Given the description of an element on the screen output the (x, y) to click on. 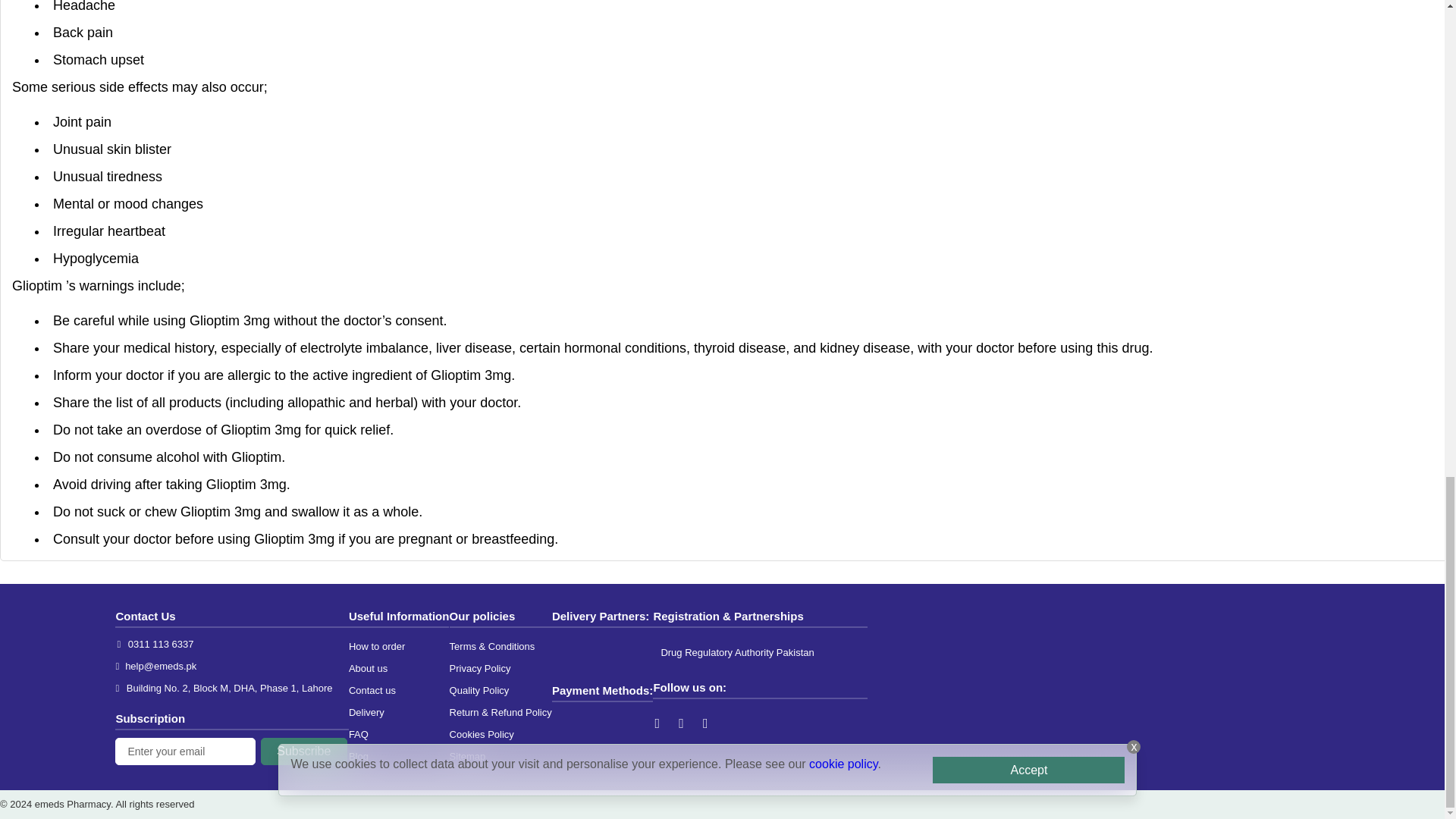
Subscribe (303, 750)
